Given the description of an element on the screen output the (x, y) to click on. 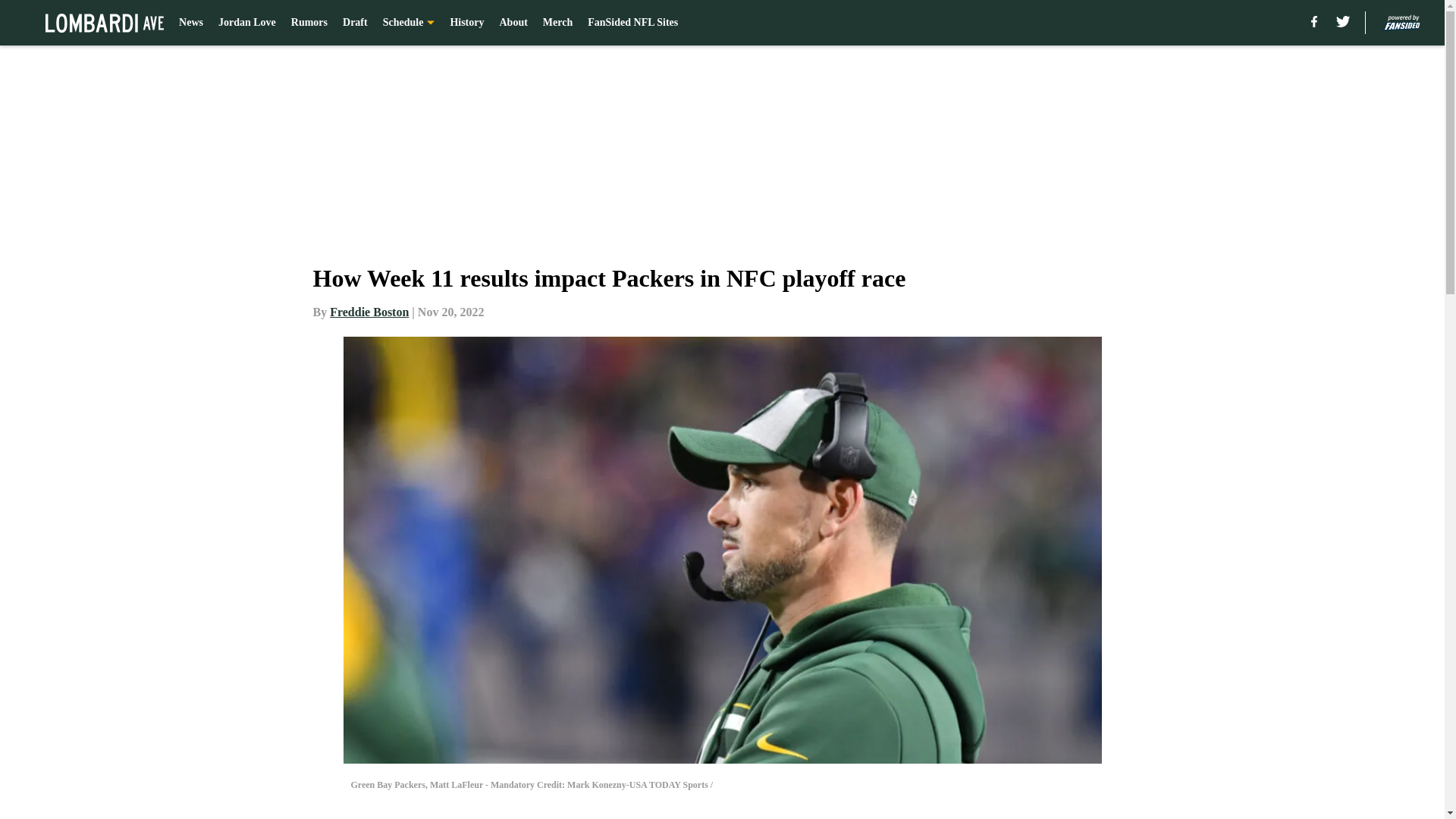
Merch (557, 22)
Freddie Boston (369, 311)
Rumors (309, 22)
Draft (355, 22)
About (513, 22)
Jordan Love (247, 22)
News (191, 22)
FanSided NFL Sites (633, 22)
History (466, 22)
